Given the description of an element on the screen output the (x, y) to click on. 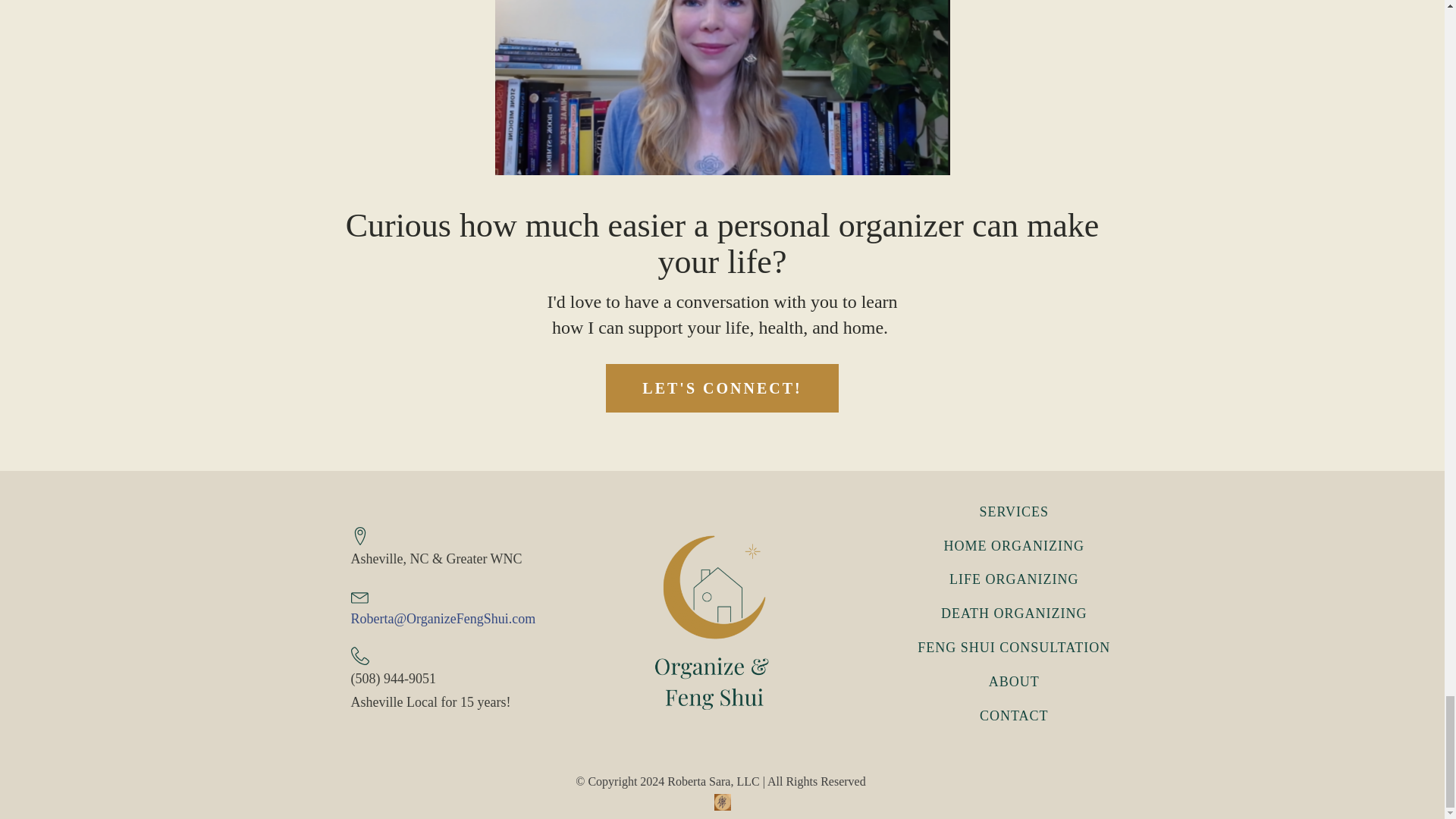
CONTACT (1013, 716)
FENG SHUI CONSULTATION (1013, 647)
HOME ORGANIZING (1013, 546)
DEATH ORGANIZING (1013, 613)
SERVICES (1013, 512)
LIFE ORGANIZING (1013, 579)
ABOUT (1013, 682)
LET'S CONNECT! (721, 387)
